Given the description of an element on the screen output the (x, y) to click on. 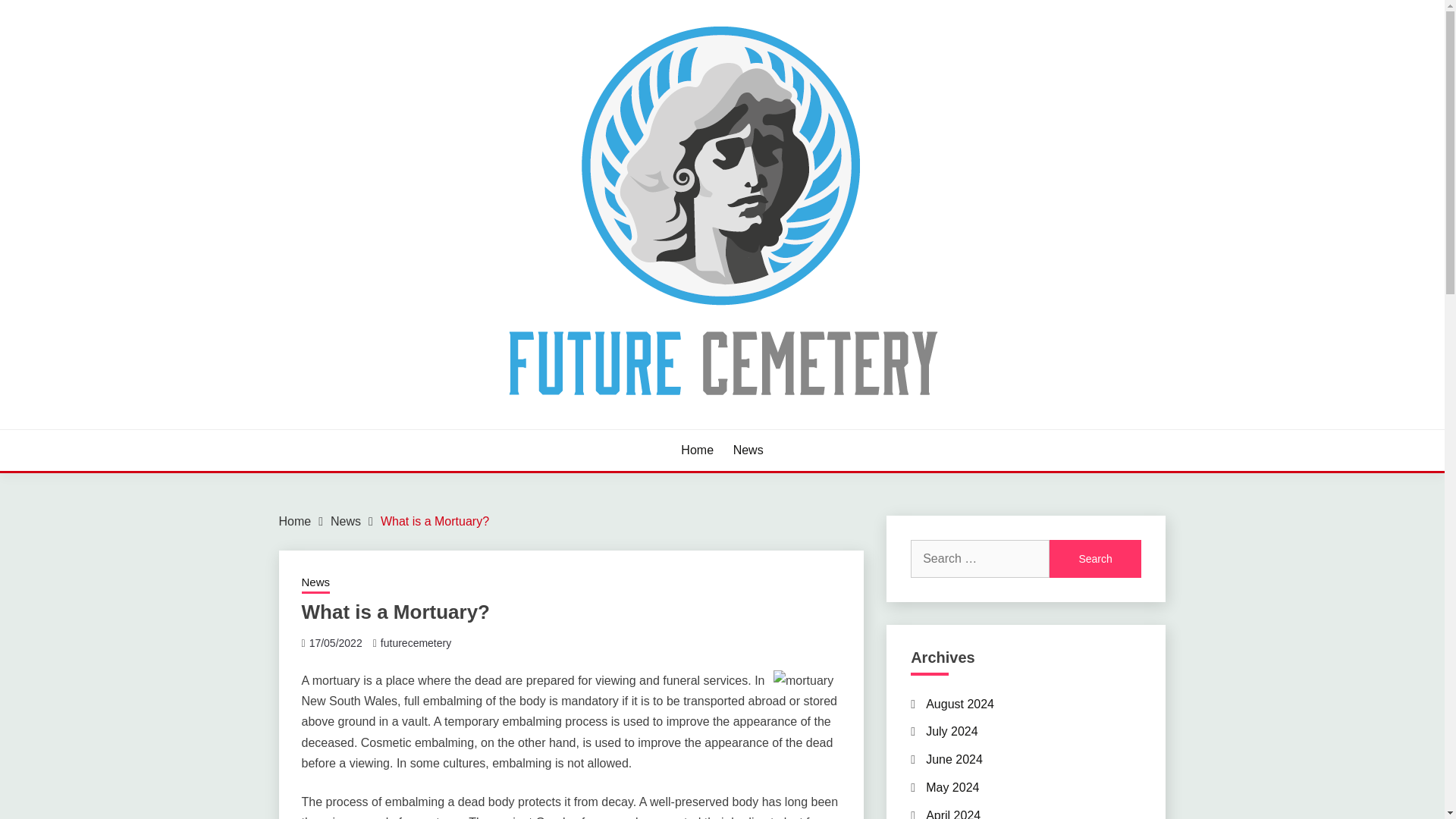
Home (295, 521)
April 2024 (952, 814)
News (747, 450)
What is a Mortuary? (434, 521)
May 2024 (952, 787)
Search (1095, 558)
July 2024 (952, 730)
August 2024 (960, 703)
News (315, 583)
Search (1095, 558)
